Given the description of an element on the screen output the (x, y) to click on. 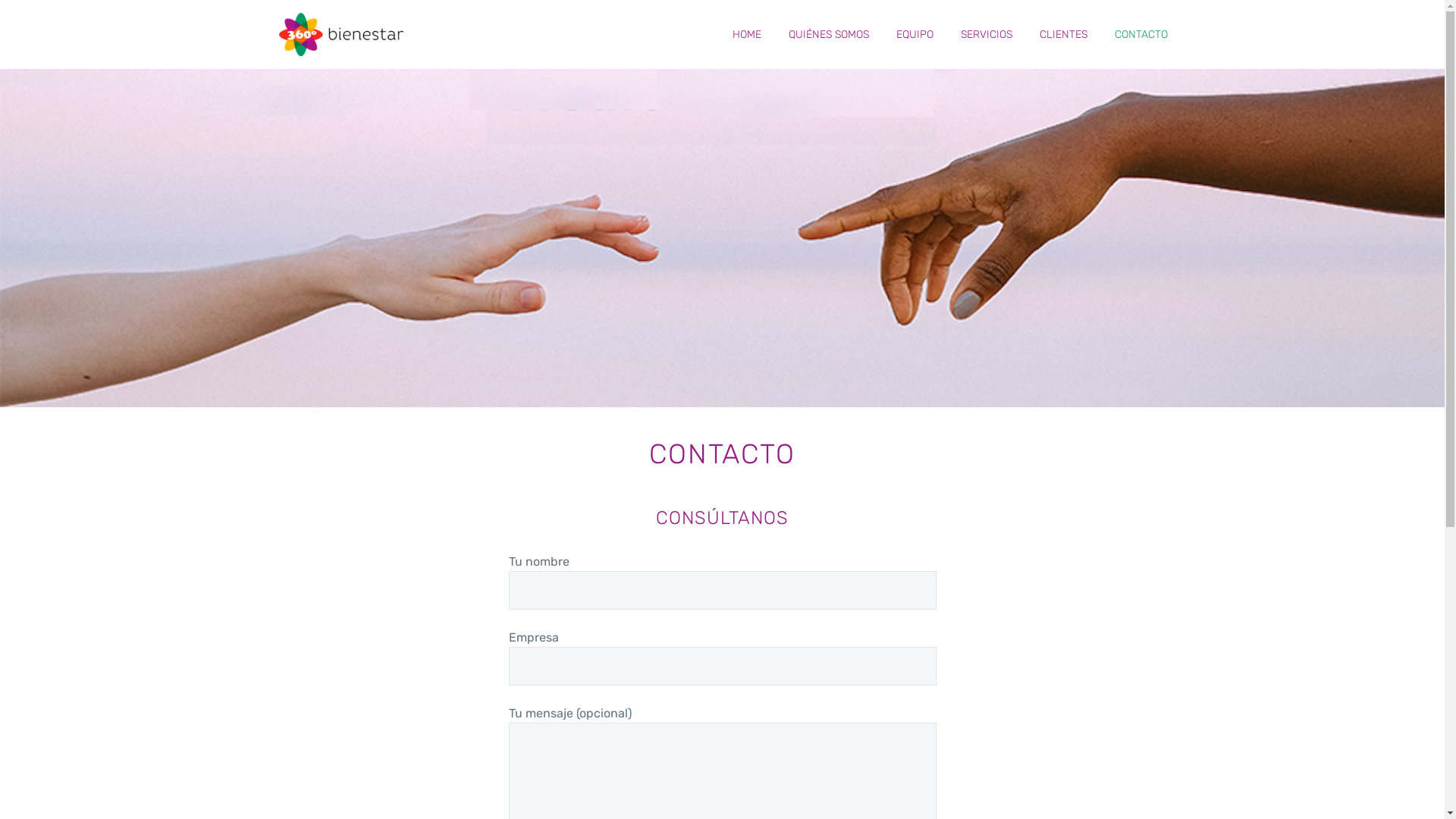
CONTACTO Element type: text (1140, 34)
EQUIPO Element type: text (914, 34)
CLIENTES Element type: text (1063, 34)
SERVICIOS Element type: text (986, 34)
HOME Element type: text (745, 34)
